Given the description of an element on the screen output the (x, y) to click on. 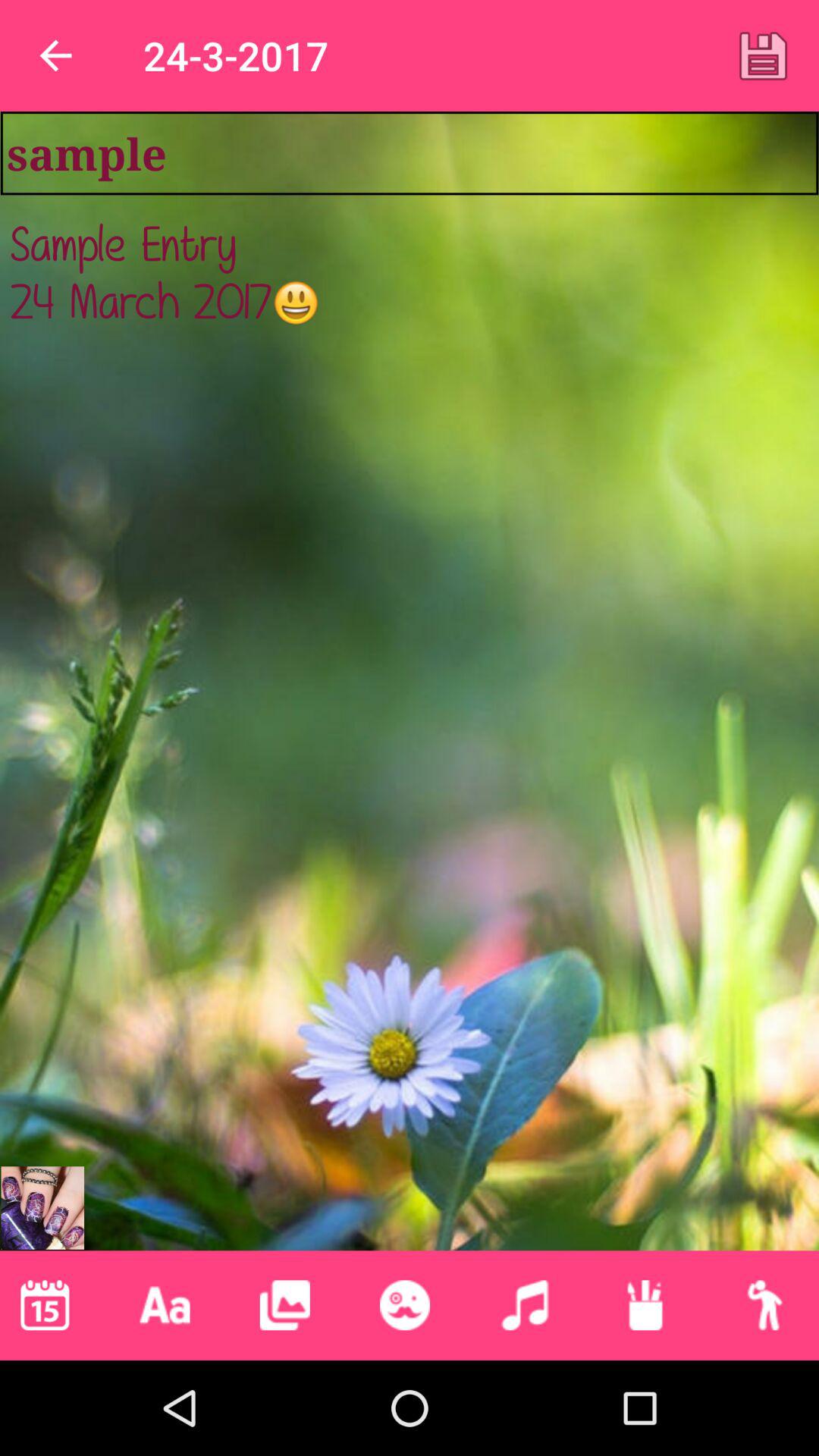
tap the item below sample entry 24 (644, 1305)
